Given the description of an element on the screen output the (x, y) to click on. 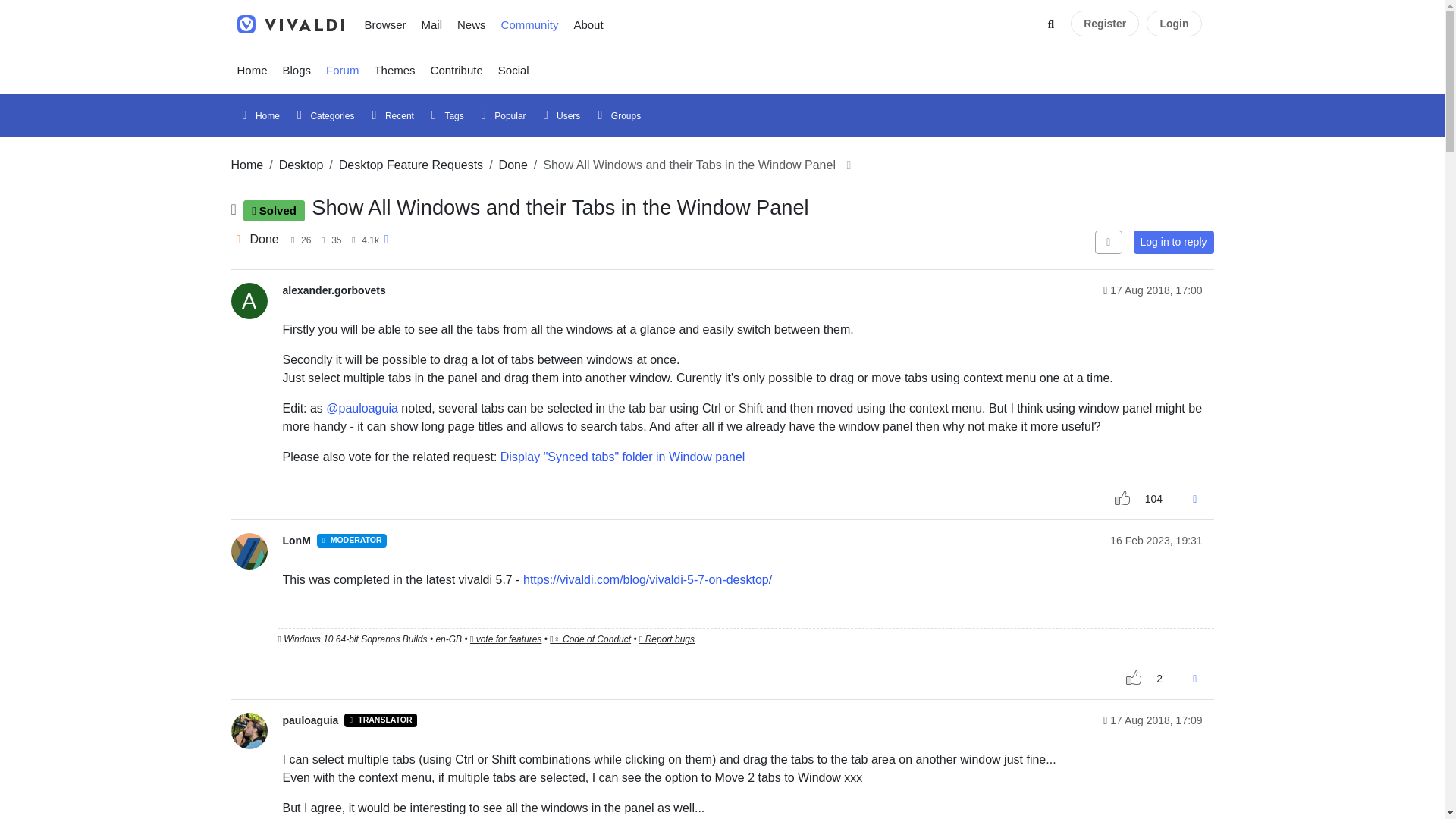
Home (257, 115)
Blogs (296, 70)
News (471, 24)
Search (1050, 24)
Groups (616, 115)
Tags (445, 115)
Themes (394, 70)
Home (251, 70)
Categories (322, 115)
Forum (342, 70)
Social (513, 70)
Users (559, 115)
Mail (431, 24)
Popular (501, 115)
Recent (389, 115)
